Given the description of an element on the screen output the (x, y) to click on. 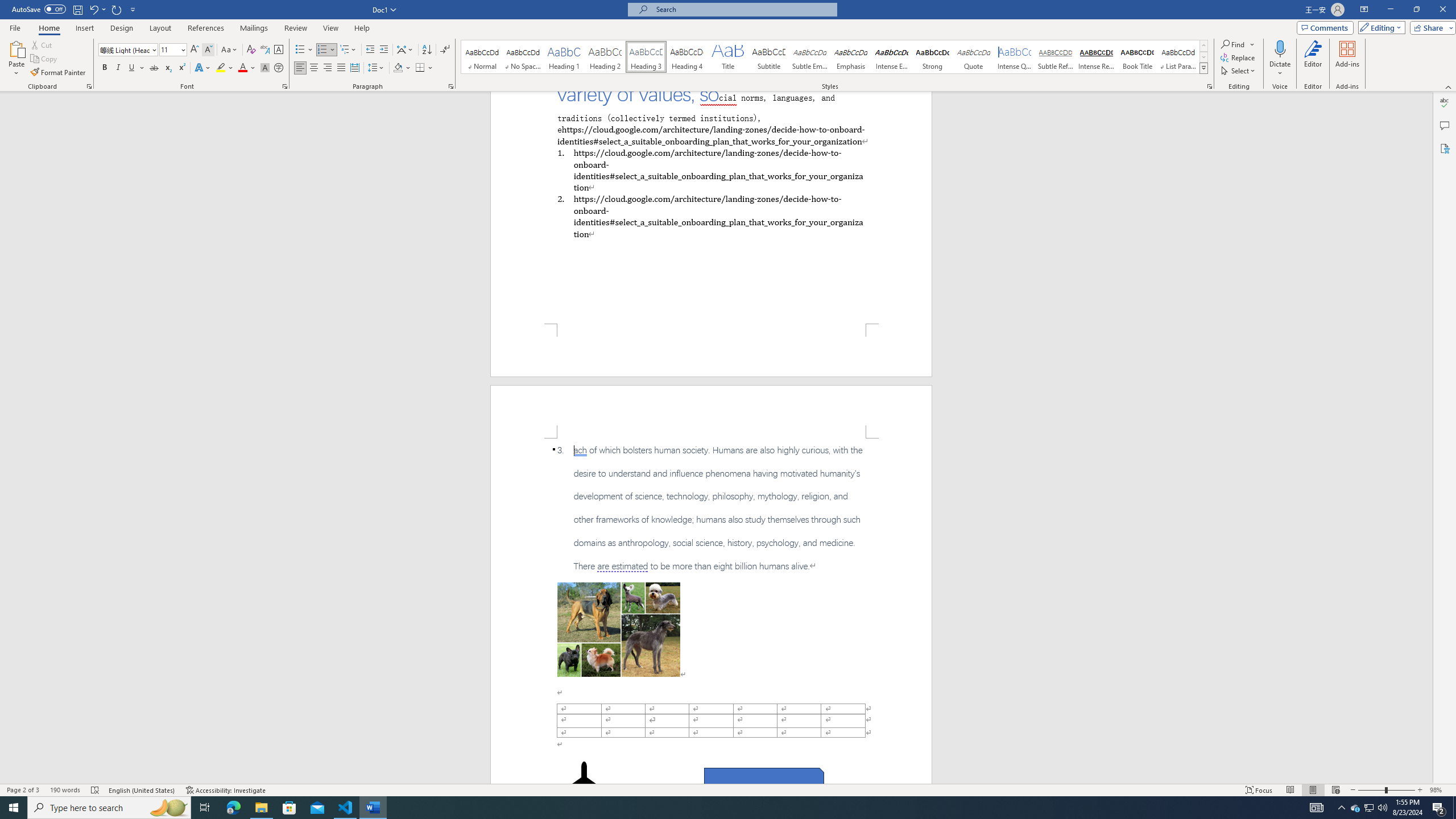
Sort... (426, 49)
Language English (United States) (141, 790)
Heading 4 (686, 56)
Enclose Characters... (278, 67)
Accessibility (1444, 147)
Airplane with solid fill (584, 783)
Grow Font (193, 49)
Superscript (180, 67)
